Given the description of an element on the screen output the (x, y) to click on. 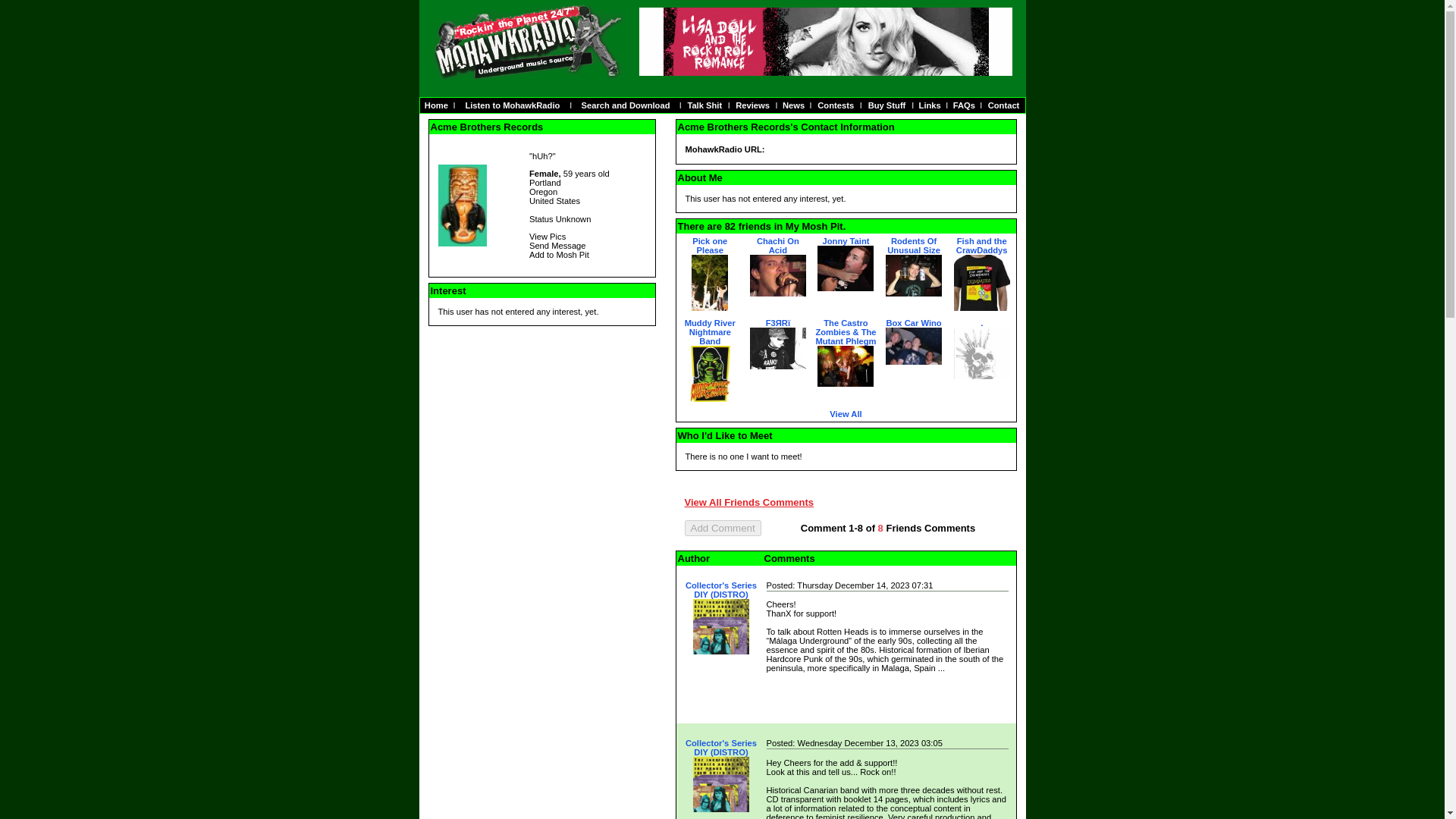
Send Message (557, 245)
MohawkRadio FAQs (964, 104)
Listen to MohawkRadio (511, 104)
Box Car Wino (912, 322)
Talk Shit (704, 104)
Advertisement (541, 520)
MohawkRadio Contact (1004, 104)
Links (929, 104)
Rodents Of Unusual Size (913, 245)
